Given the description of an element on the screen output the (x, y) to click on. 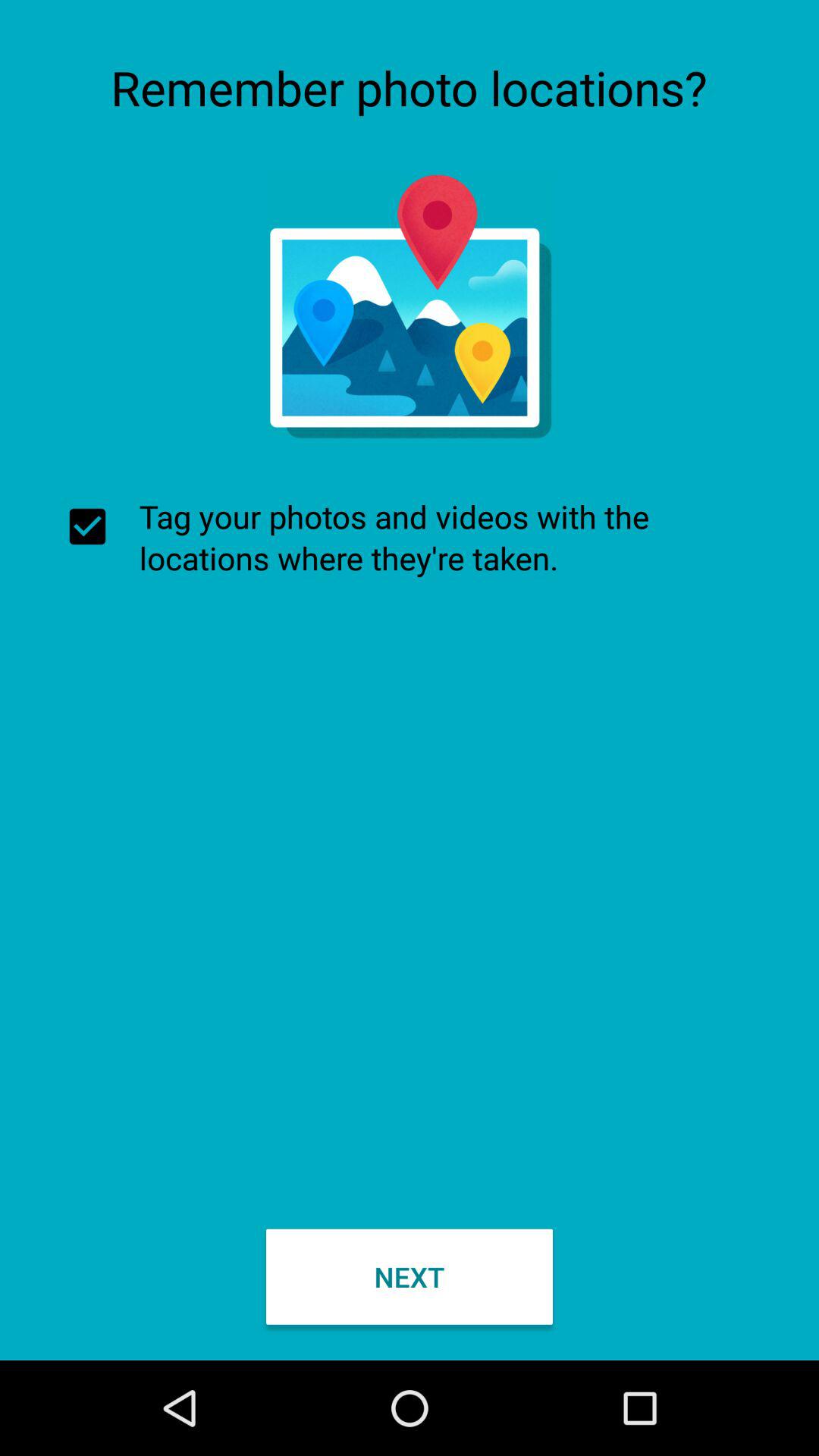
jump until next button (409, 1276)
